Given the description of an element on the screen output the (x, y) to click on. 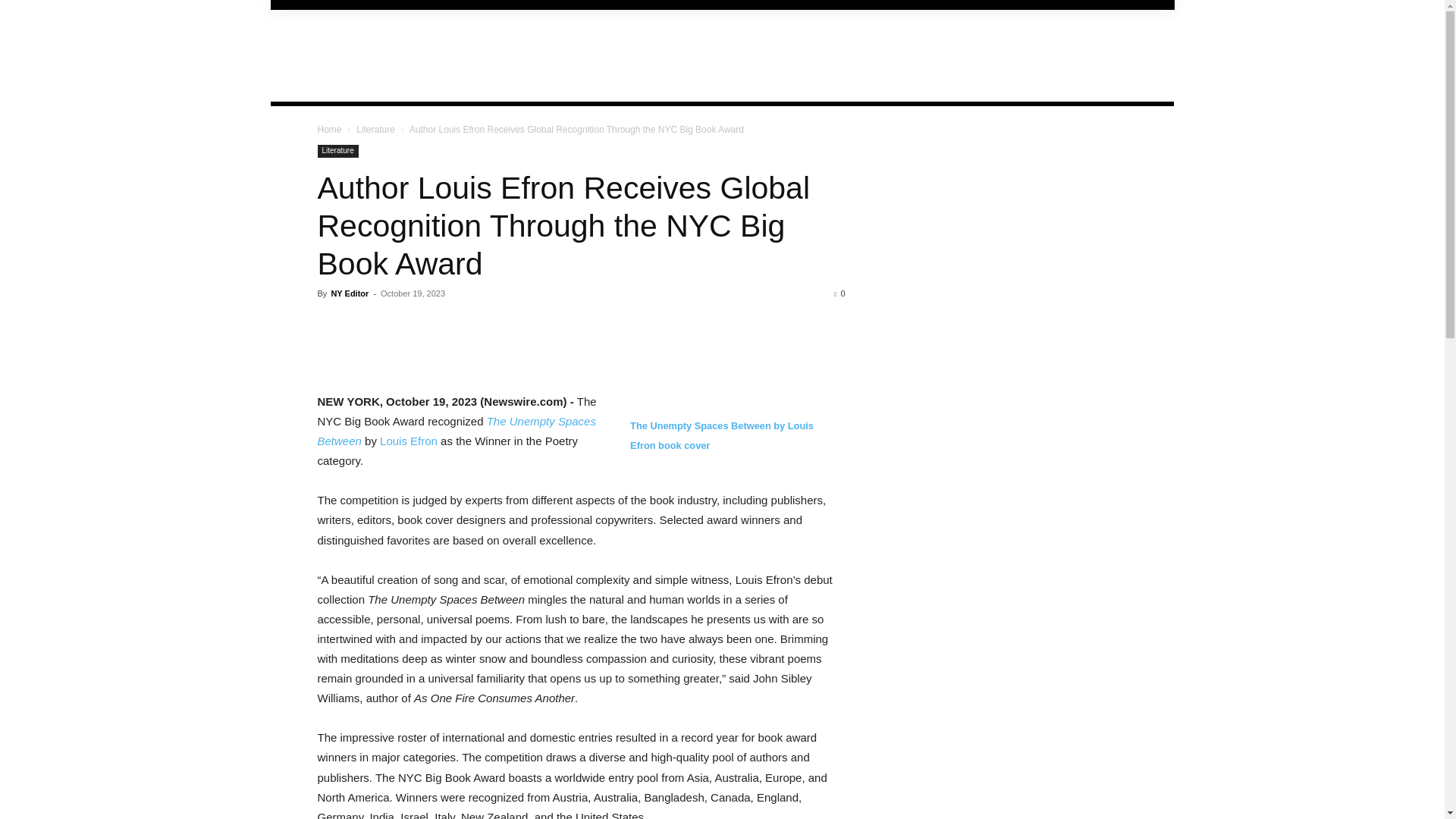
Literature (337, 151)
0 (839, 293)
Home (328, 129)
The Unempty Spaces Between (456, 430)
The Unempty Spaces Between by Louis Efron book cover (721, 444)
Literature (375, 129)
Louis Efron (409, 440)
View all posts in Literature (375, 129)
NY Editor (349, 293)
